Given the description of an element on the screen output the (x, y) to click on. 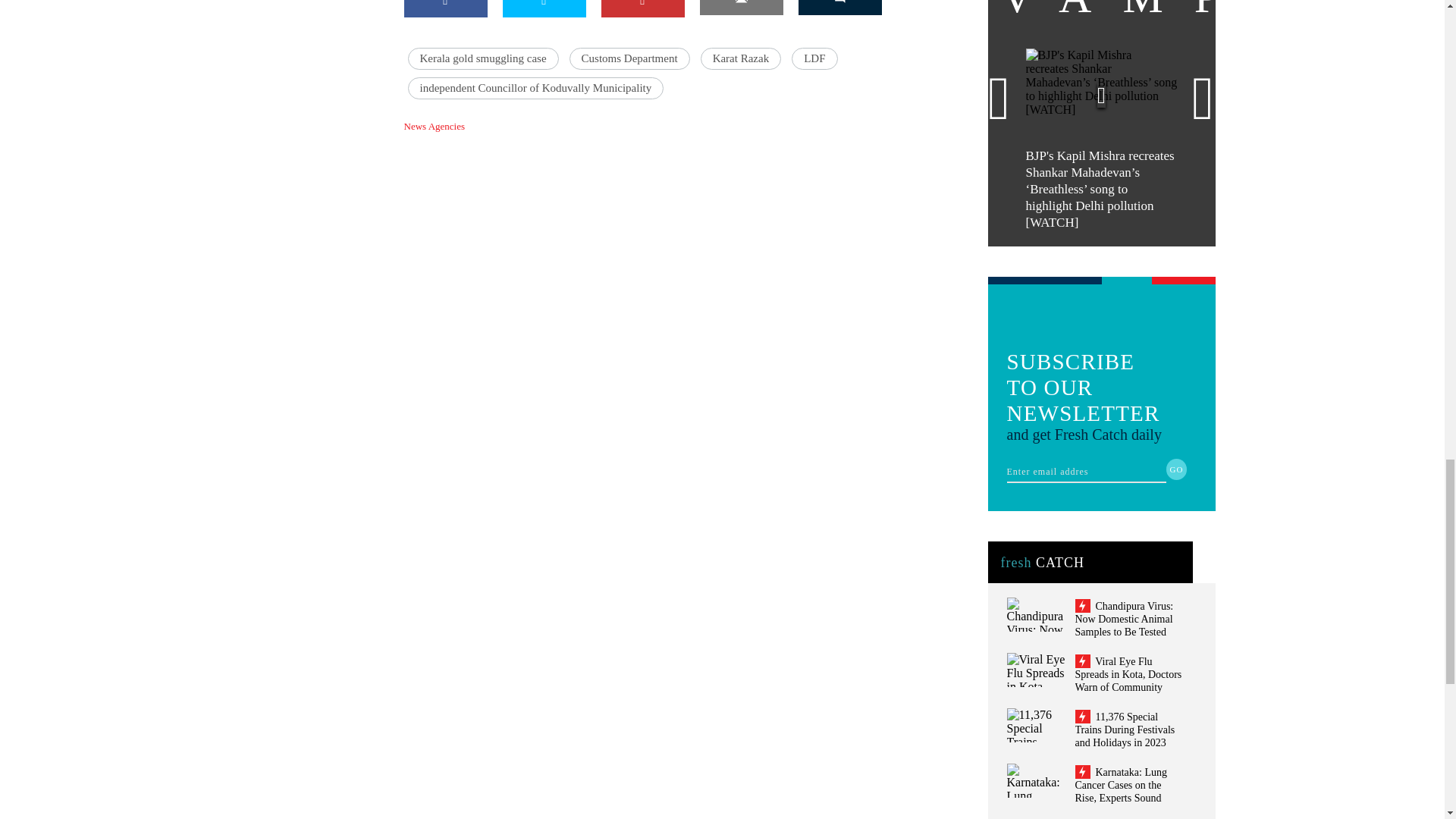
 Karat Razak (740, 58)
LDF (814, 58)
Customs Department (629, 58)
Kerala gold smuggling case (483, 58)
 independent Councillor of Koduvally Municipality (535, 87)
GO (1177, 468)
